Given the description of an element on the screen output the (x, y) to click on. 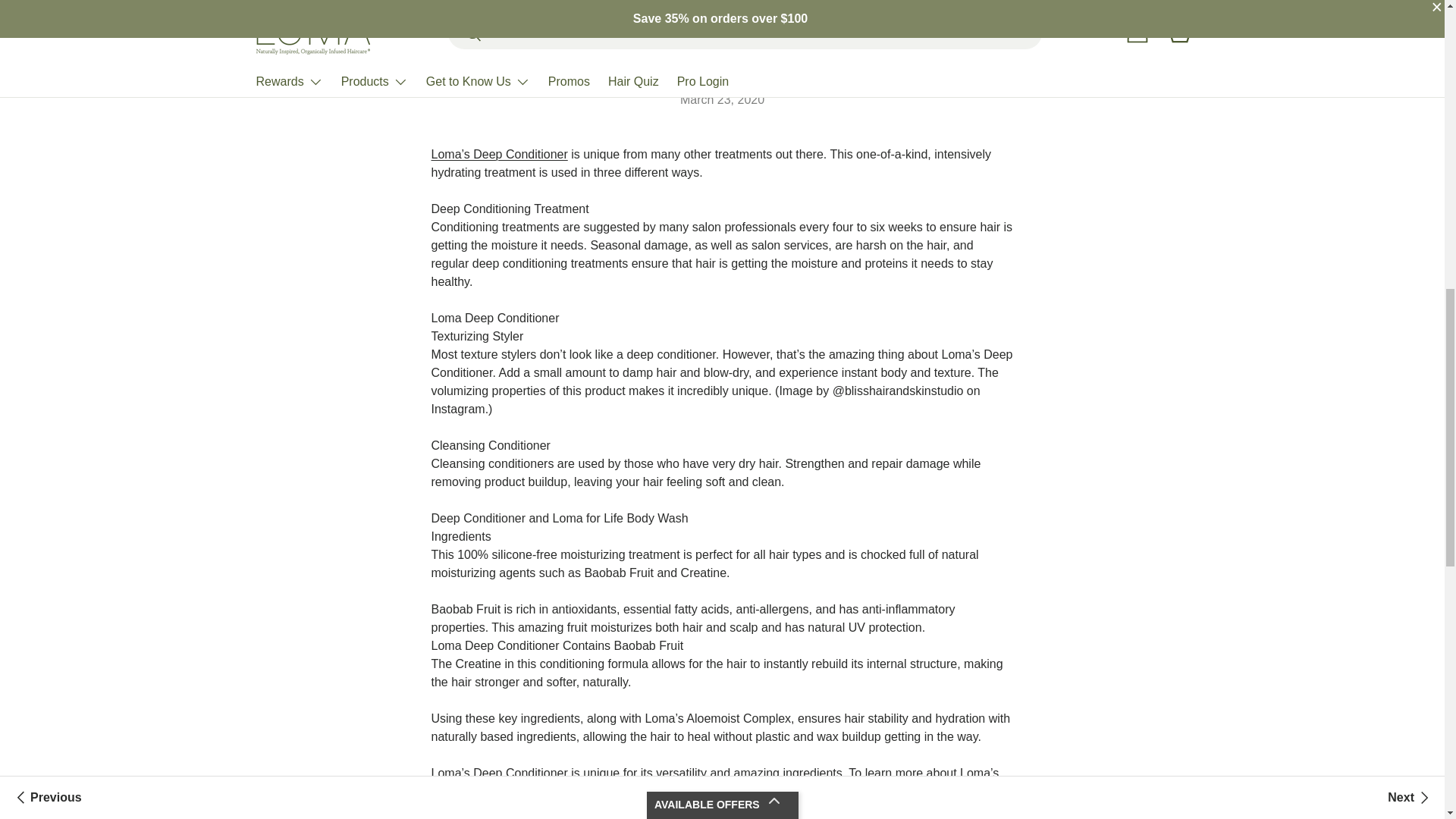
LOMA Deep Conditioner (498, 154)
